Given the description of an element on the screen output the (x, y) to click on. 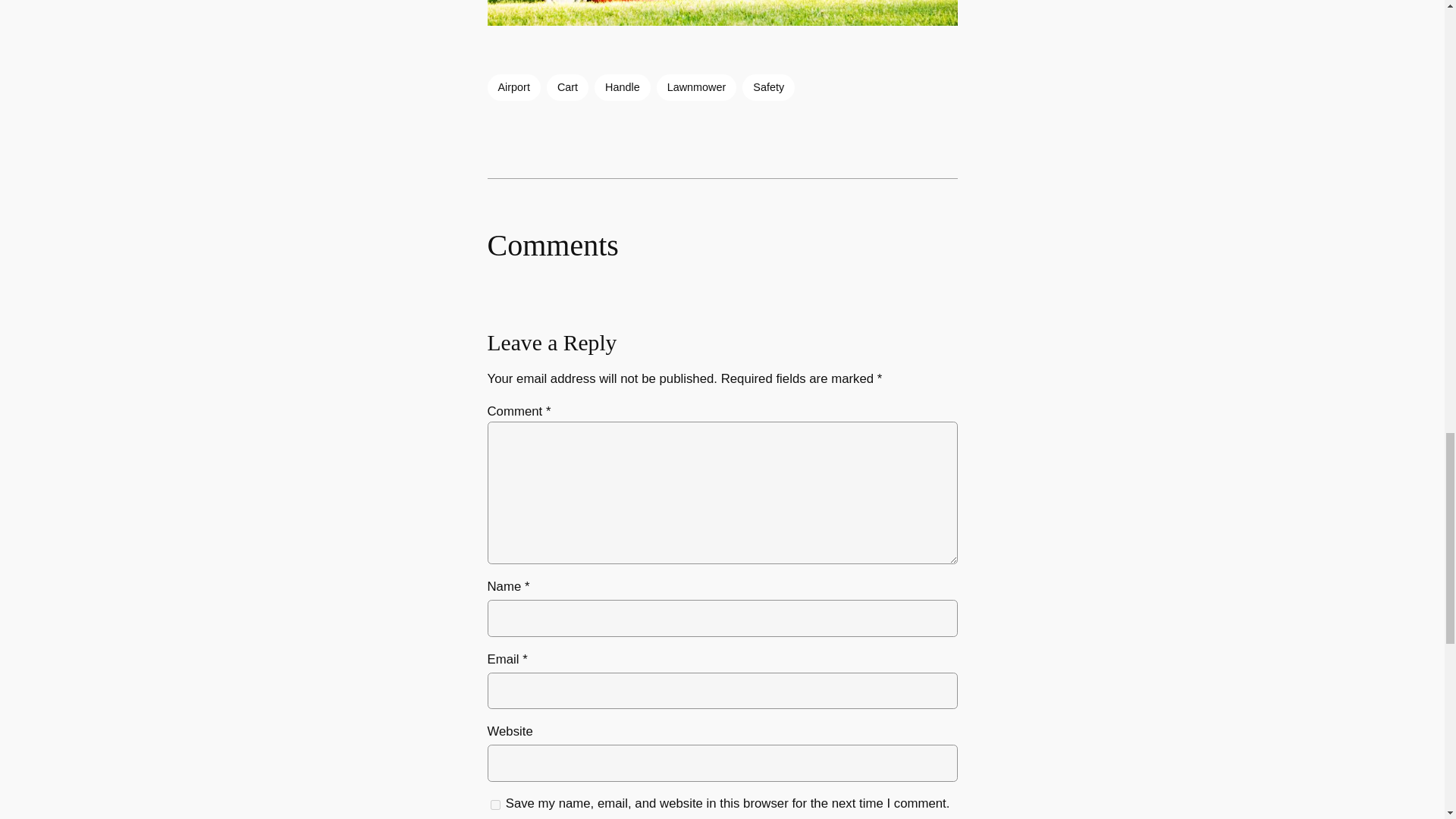
Handle (622, 86)
Safety (768, 86)
Lawnmower (696, 86)
Cart (567, 86)
Airport (513, 86)
